Given the description of an element on the screen output the (x, y) to click on. 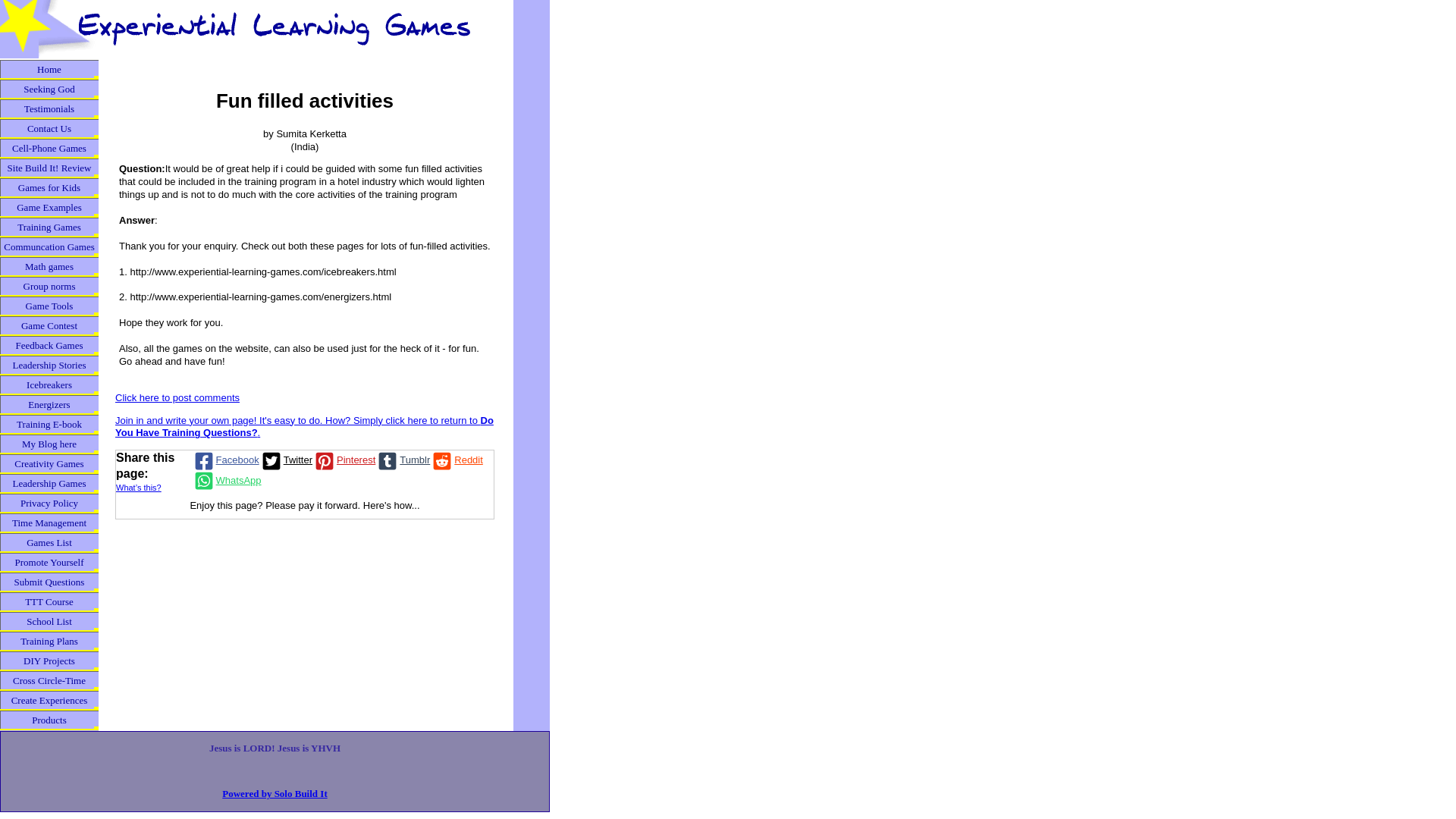
TTT Course (49, 601)
Time Management (49, 523)
Click here to post comments (177, 397)
Games for Kids (49, 188)
Twitter (286, 460)
Training E-book (49, 424)
Games List (49, 542)
Feedback Games (49, 345)
Facebook (225, 460)
Math games (49, 266)
My Blog here (49, 444)
Group norms (49, 286)
WhatsApp (227, 480)
DIY Projects (49, 660)
Promote Yourself (49, 562)
